Given the description of an element on the screen output the (x, y) to click on. 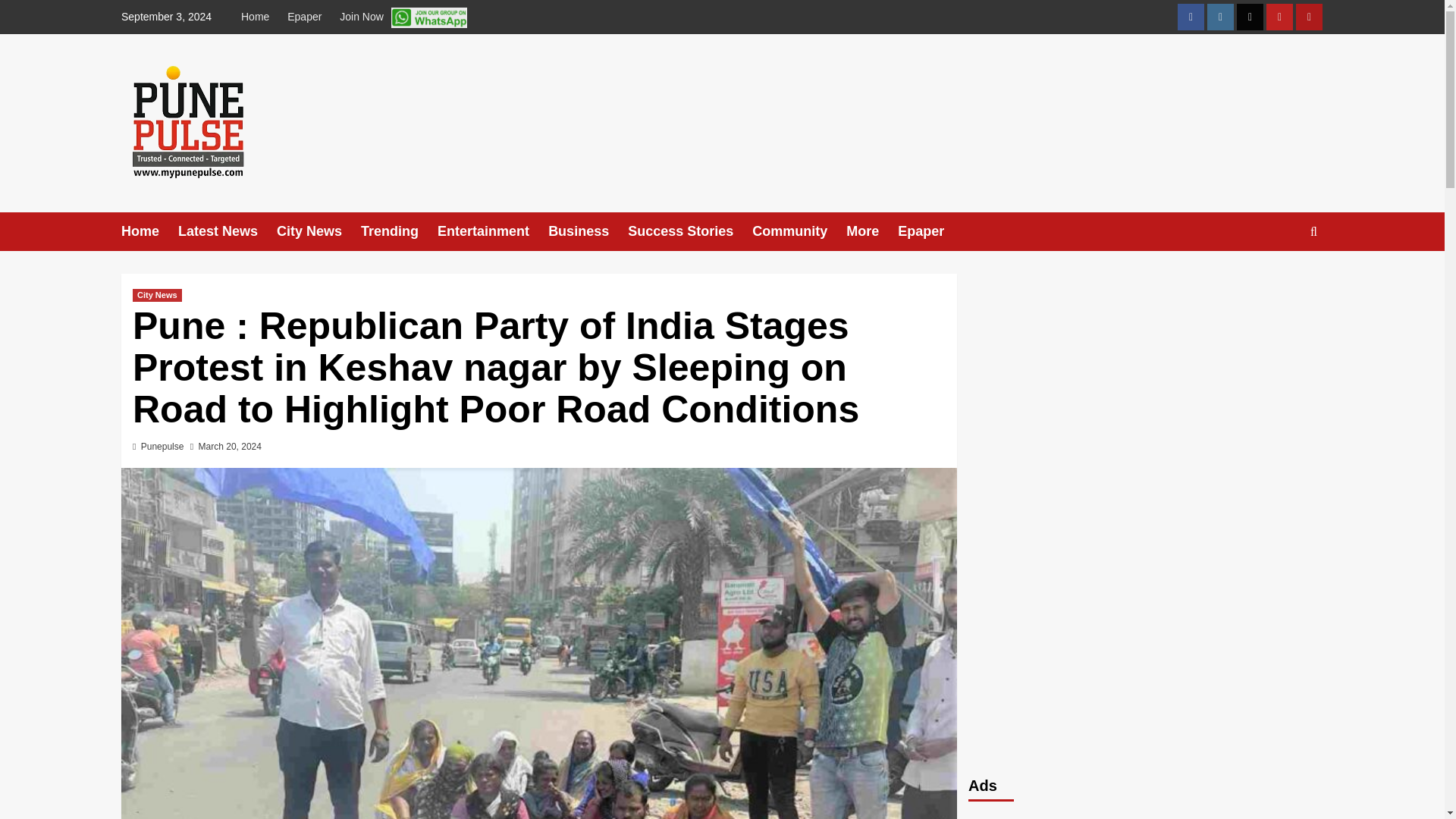
Home (148, 231)
Twitter (1249, 17)
Trending (399, 231)
Community (798, 231)
Entertainment (493, 231)
Epaper (304, 17)
Youtube (1279, 17)
More (871, 231)
Home (258, 17)
Success Stories (689, 231)
